Given the description of an element on the screen output the (x, y) to click on. 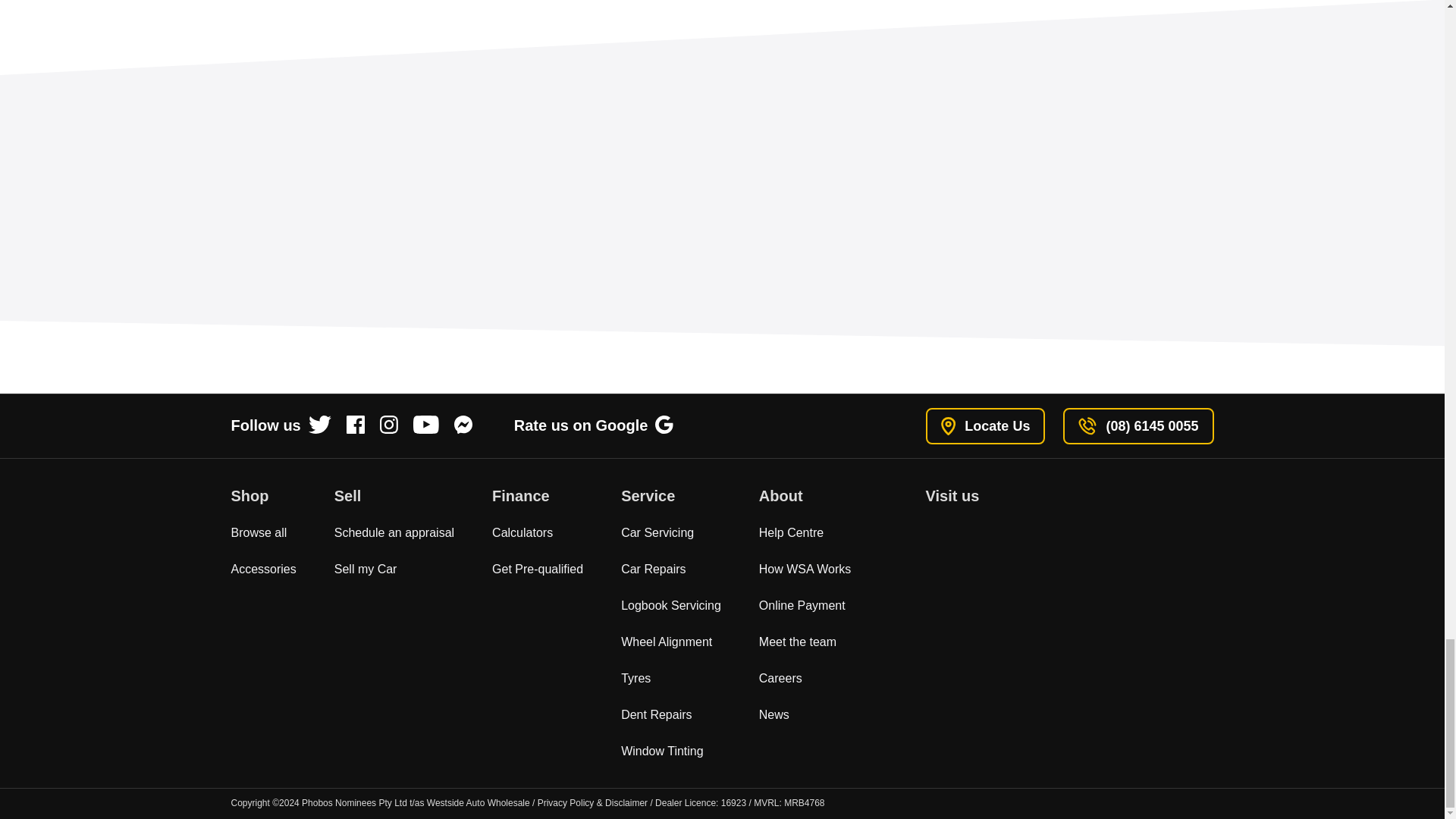
youtube (426, 424)
